Given the description of an element on the screen output the (x, y) to click on. 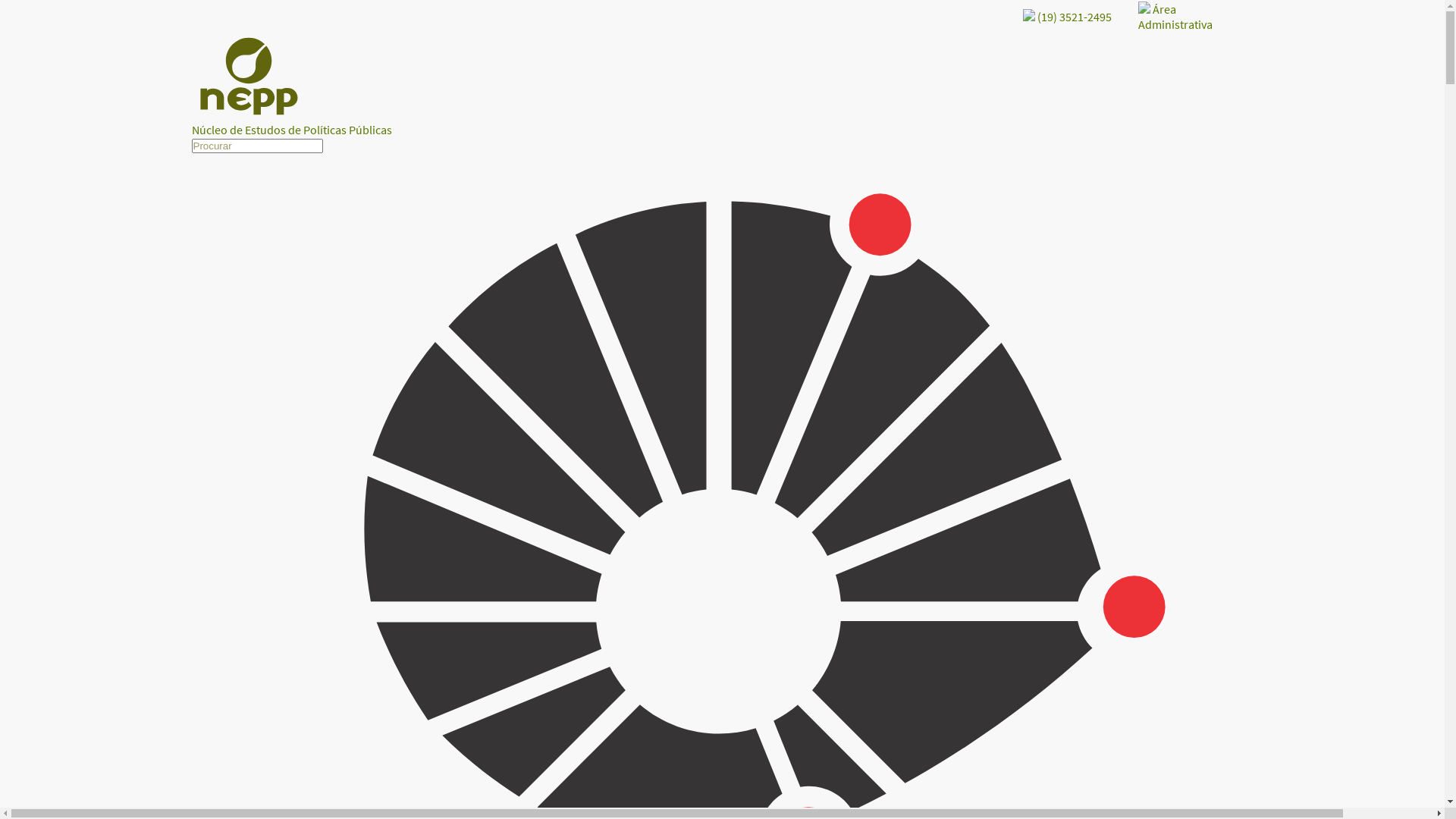
(19) 3521-2495 Element type: text (1066, 16)
